Given the description of an element on the screen output the (x, y) to click on. 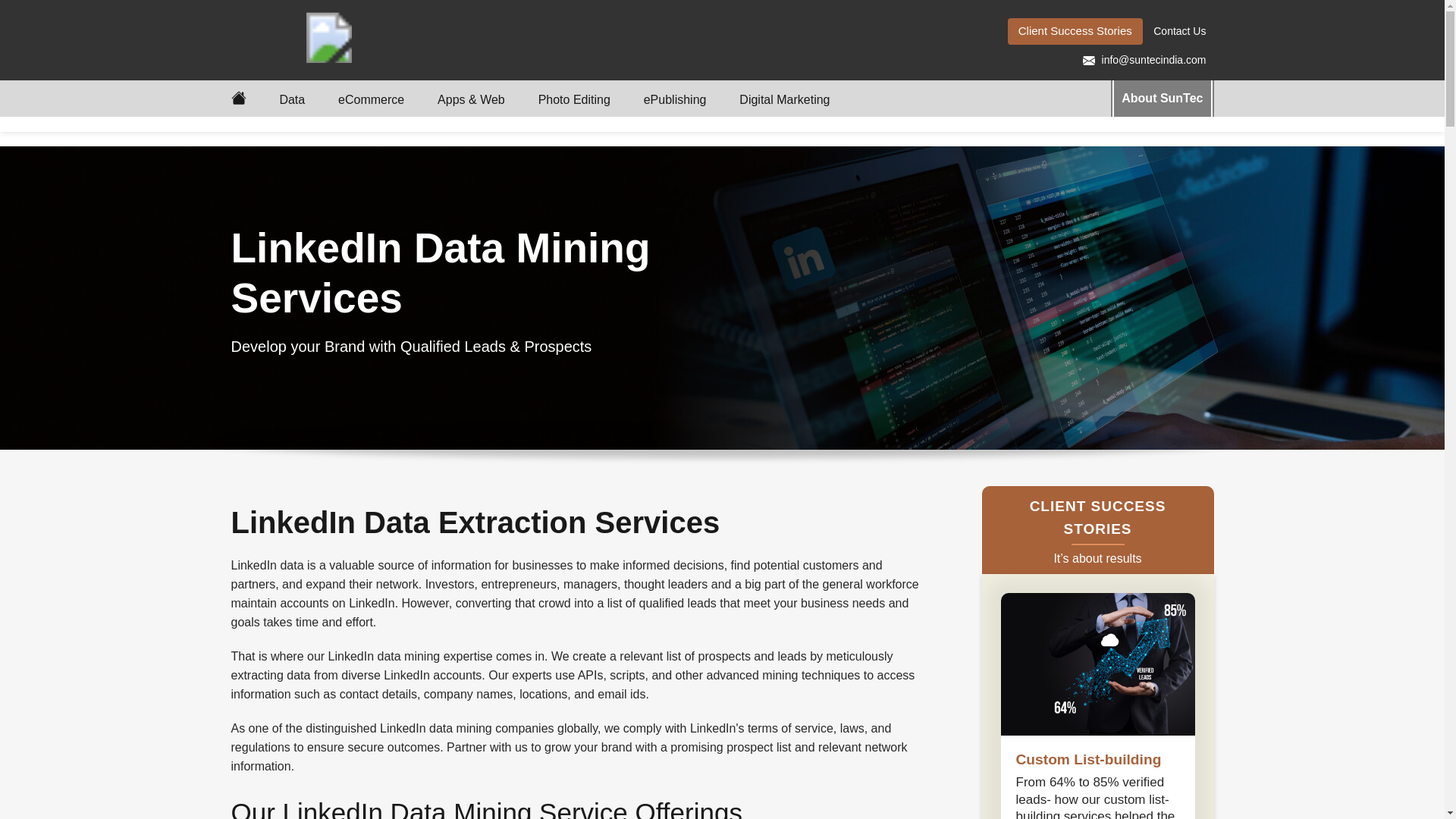
Data (291, 101)
Contact Us (1178, 31)
Client Success Stories (1074, 31)
SunTec India (388, 37)
